Given the description of an element on the screen output the (x, y) to click on. 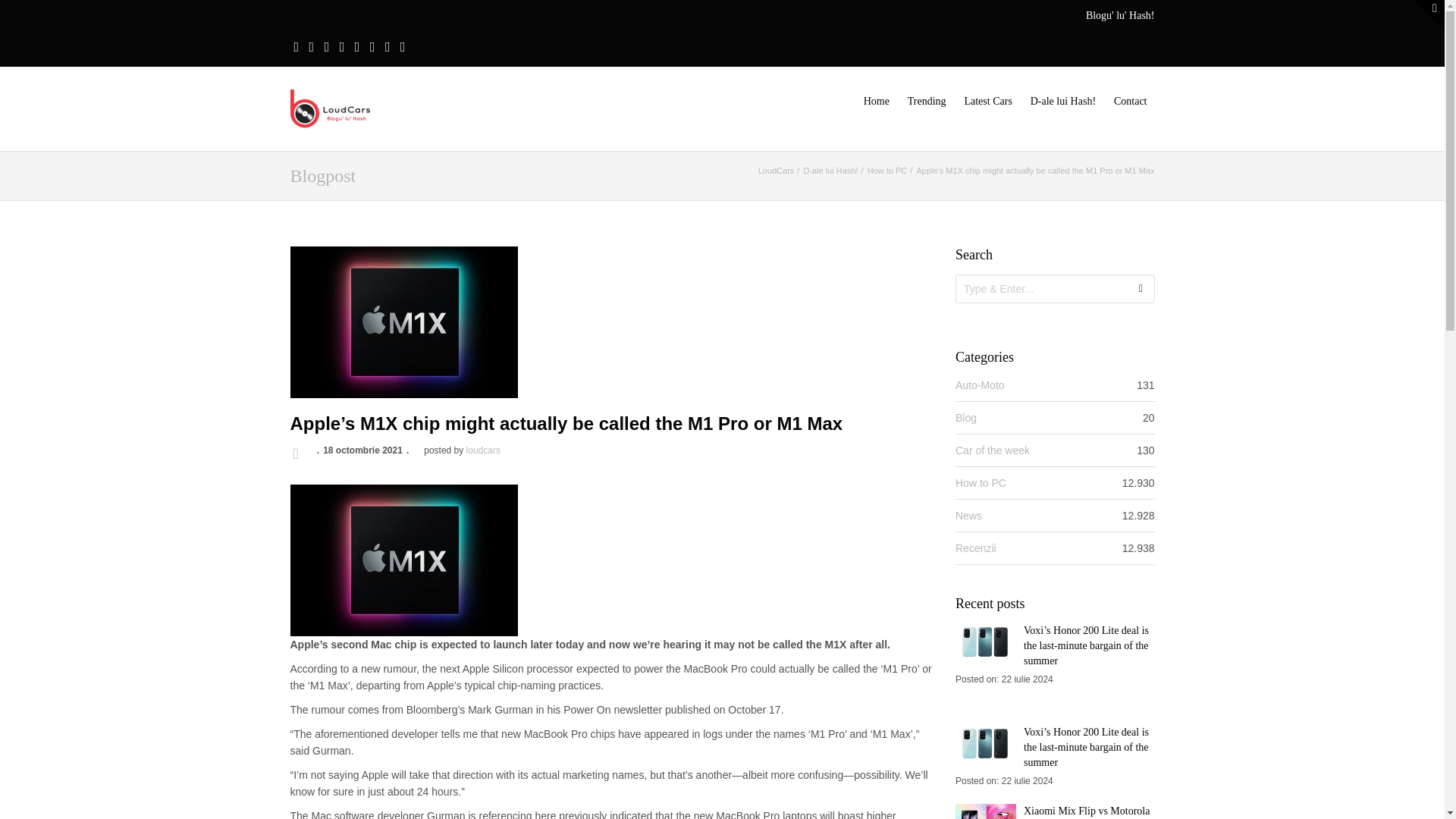
Home (876, 101)
loudcars (482, 450)
D-ale lui Hash! (830, 170)
LoudCars (776, 170)
D-ale lui Hash! (1063, 101)
Latest Cars (987, 101)
Go to LoudCars. (776, 170)
Trending (926, 101)
Contact (1130, 101)
How to PC (887, 170)
LoudCars (329, 106)
